Given the description of an element on the screen output the (x, y) to click on. 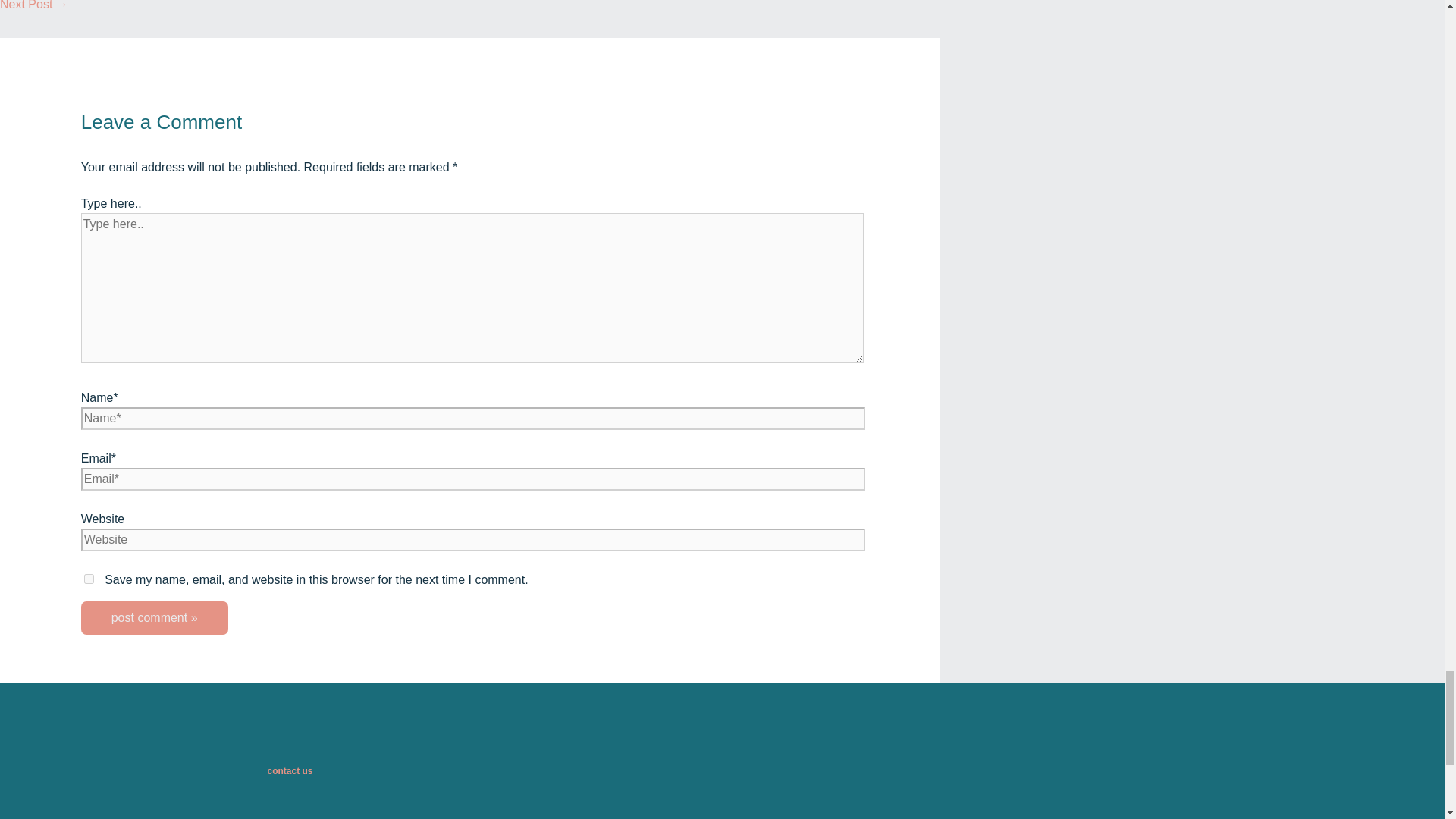
yes (89, 578)
